Given the description of an element on the screen output the (x, y) to click on. 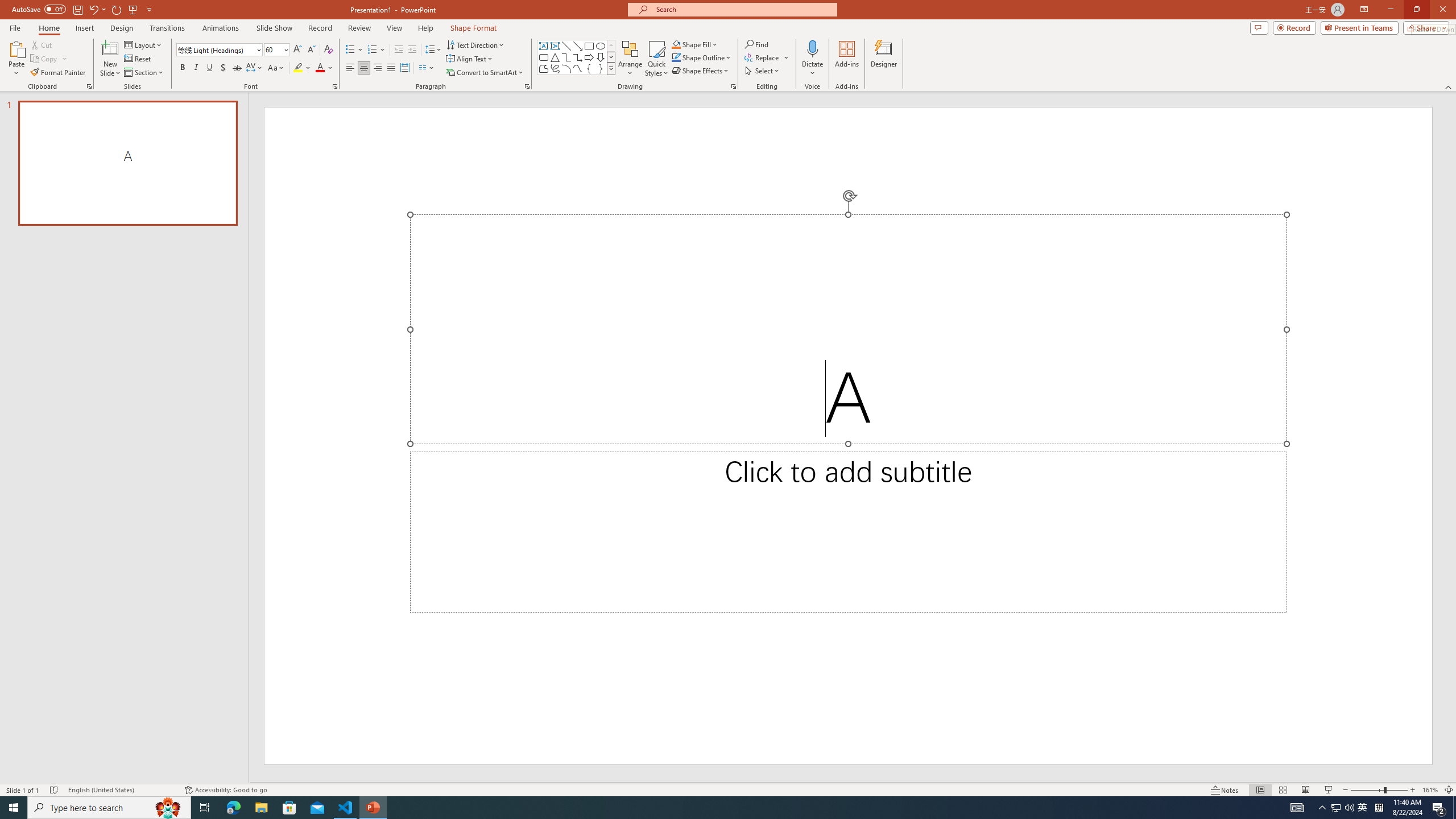
Shape Outline Blue, Accent 1 (675, 56)
